Given the description of an element on the screen output the (x, y) to click on. 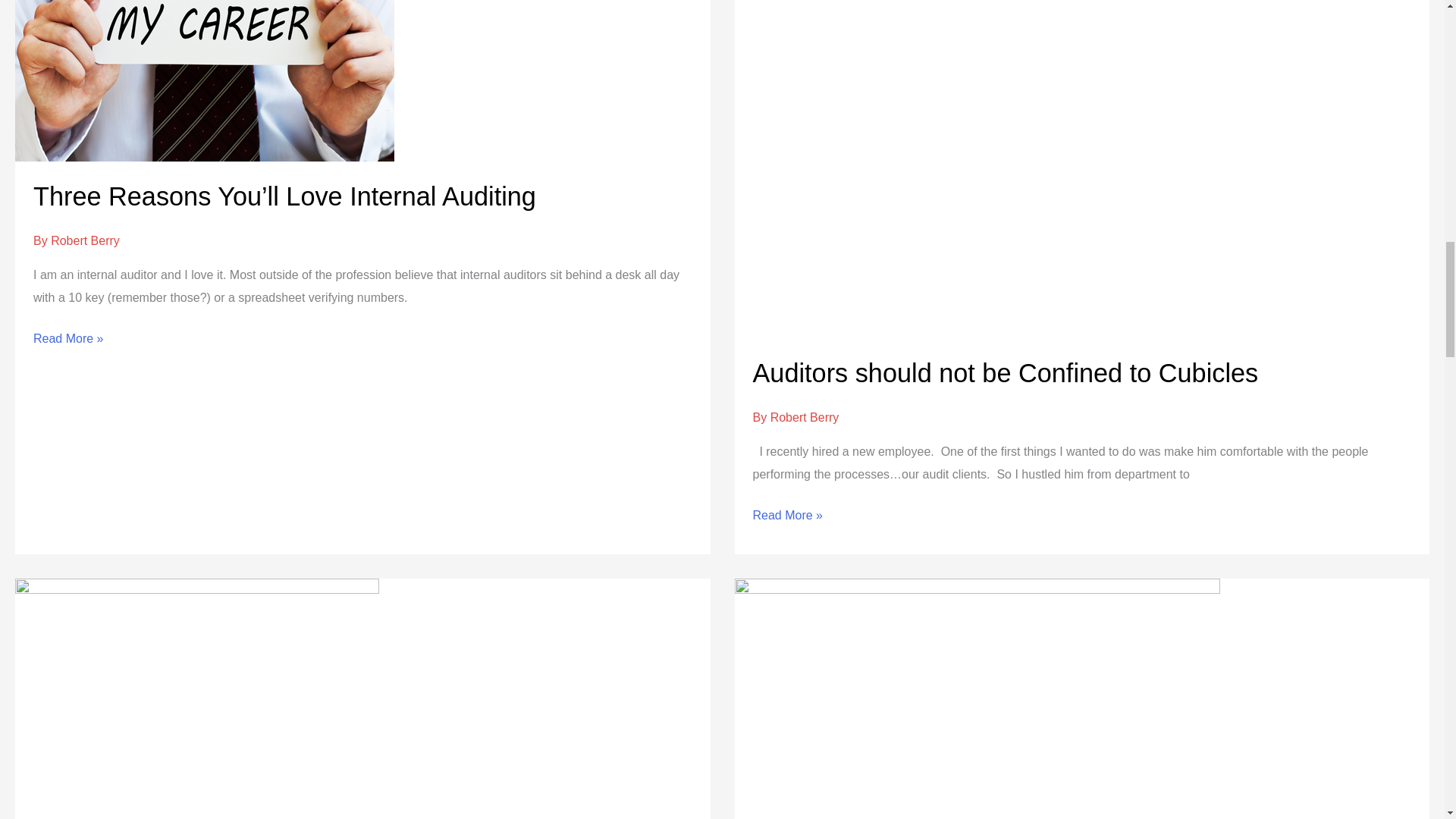
View all posts by Robert Berry (805, 417)
Robert Berry (84, 240)
View all posts by Robert Berry (84, 240)
